Given the description of an element on the screen output the (x, y) to click on. 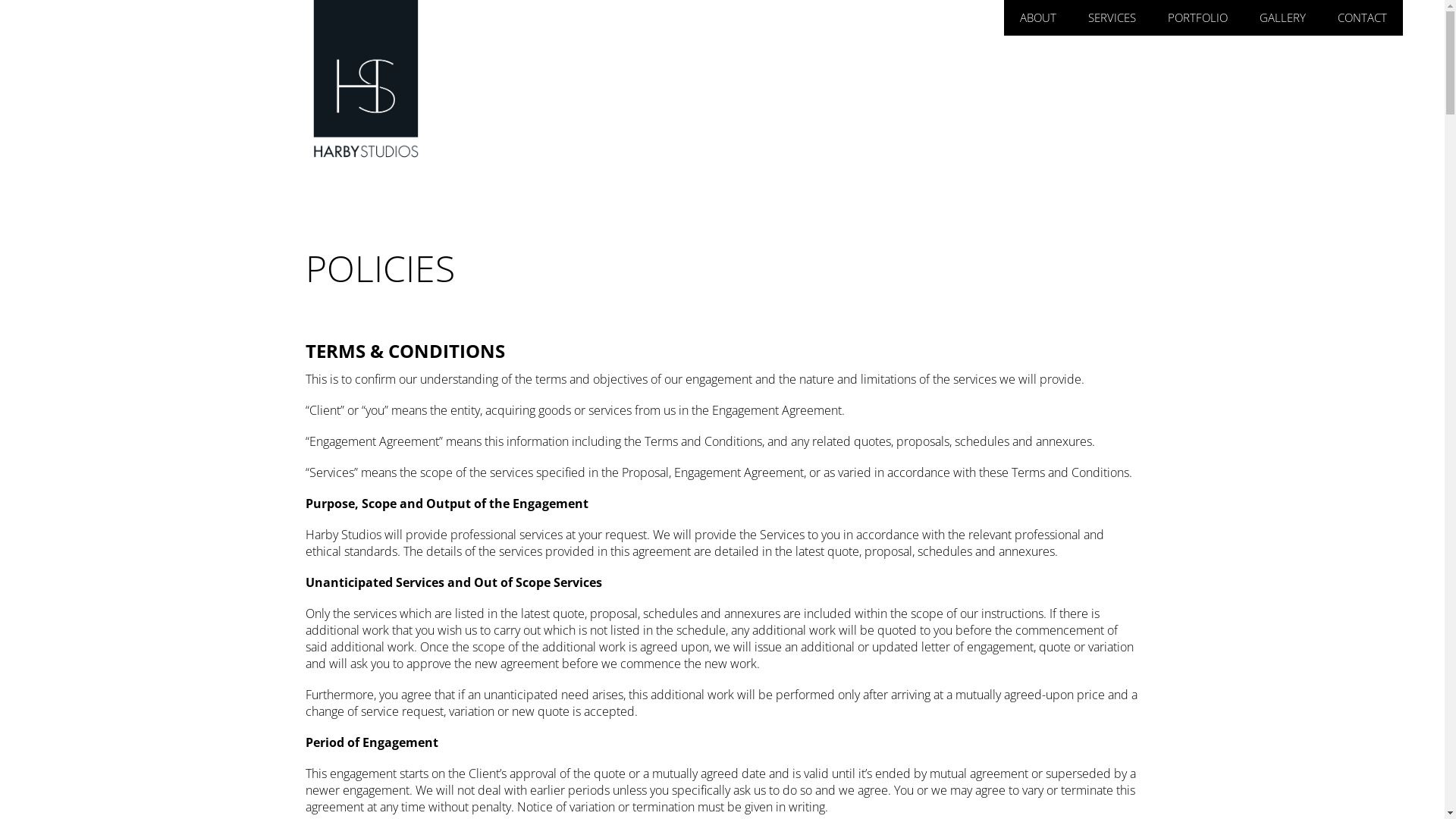
SERVICES Element type: text (1112, 17)
GALLERY Element type: text (1282, 17)
CONTACT Element type: text (1362, 17)
PORTFOLIO Element type: text (1197, 17)
ABOUT Element type: text (1037, 17)
